Given the description of an element on the screen output the (x, y) to click on. 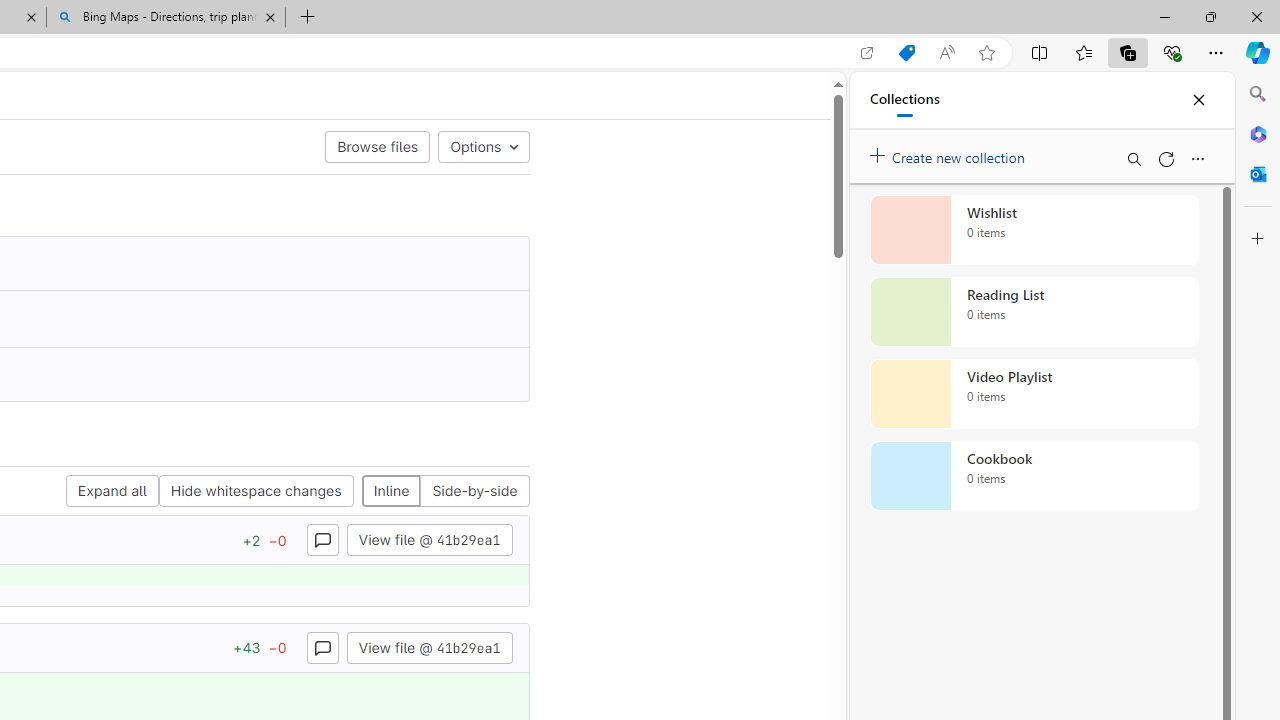
Wishlist collection, 0 items (1034, 229)
Options (483, 146)
View file @ 41b29ea1 (429, 646)
Expand all (111, 491)
Inline (391, 491)
More options menu (1197, 158)
Browser essentials (1171, 52)
Add this page to favorites (Ctrl+D) (986, 53)
Hide whitespace changes (255, 491)
Toggle comments for this file (322, 646)
Outlook (1258, 174)
